Given the description of an element on the screen output the (x, y) to click on. 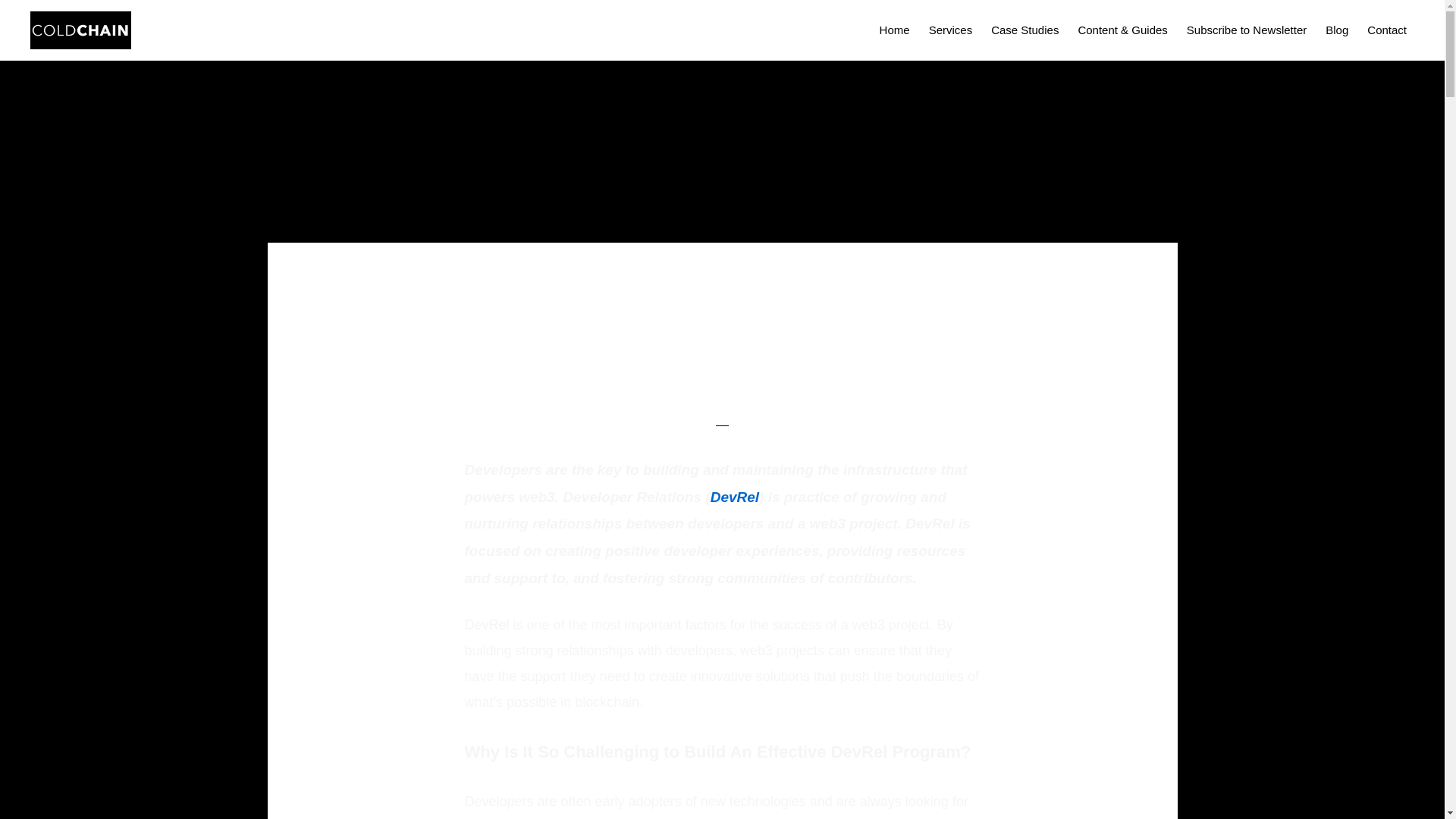
Case Studies (1024, 29)
Contact (1386, 29)
Home (894, 29)
Blog (1336, 29)
DevRel (734, 496)
Services (950, 29)
Developer Marketing Services (734, 496)
Subscribe to Newsletter (1246, 29)
